Given the description of an element on the screen output the (x, y) to click on. 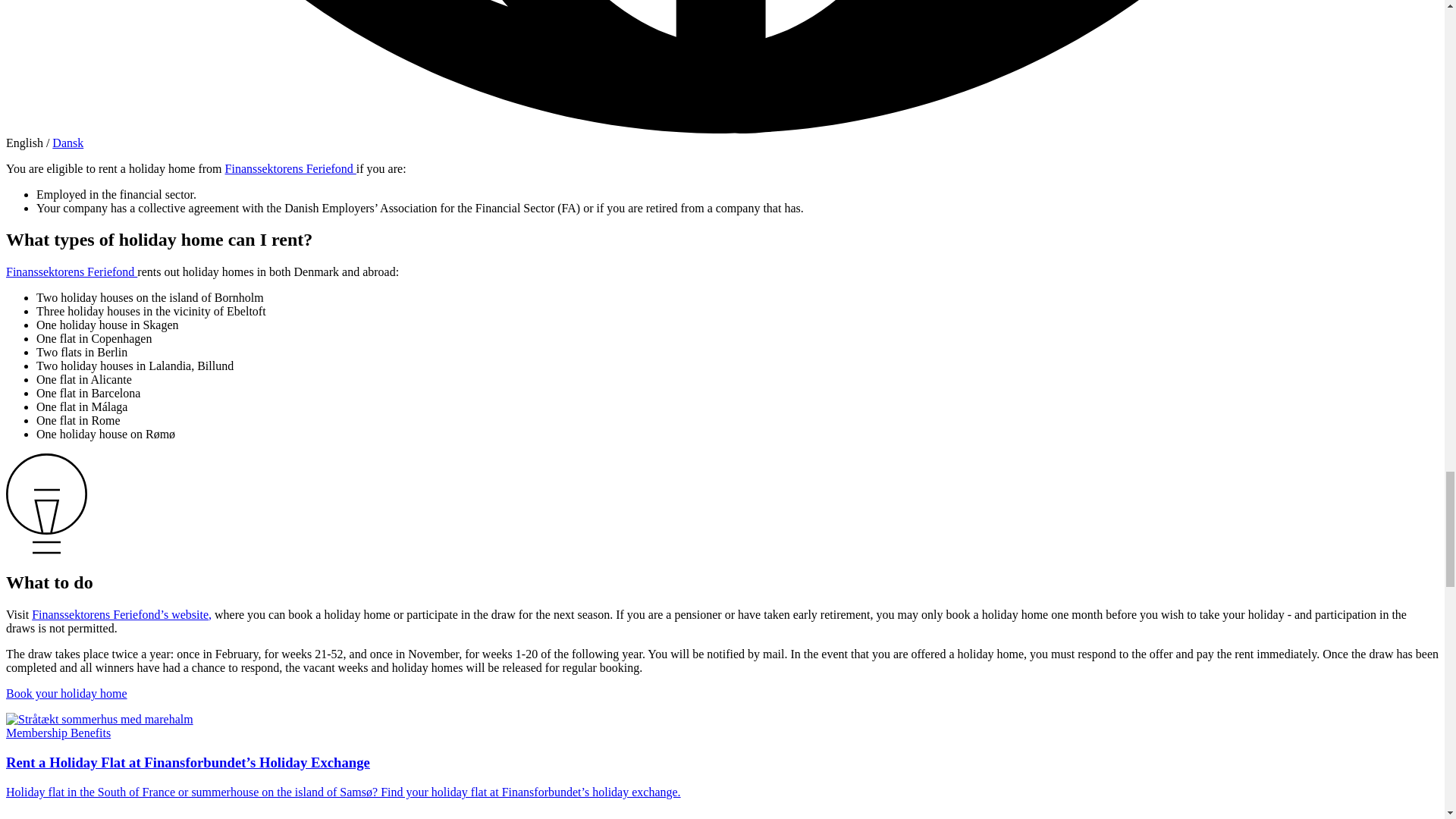
Finanssektorens Feriefond (290, 168)
Dansk (67, 142)
Finanssektorens Feriefond (70, 271)
Book your holiday home (66, 693)
